Given the description of an element on the screen output the (x, y) to click on. 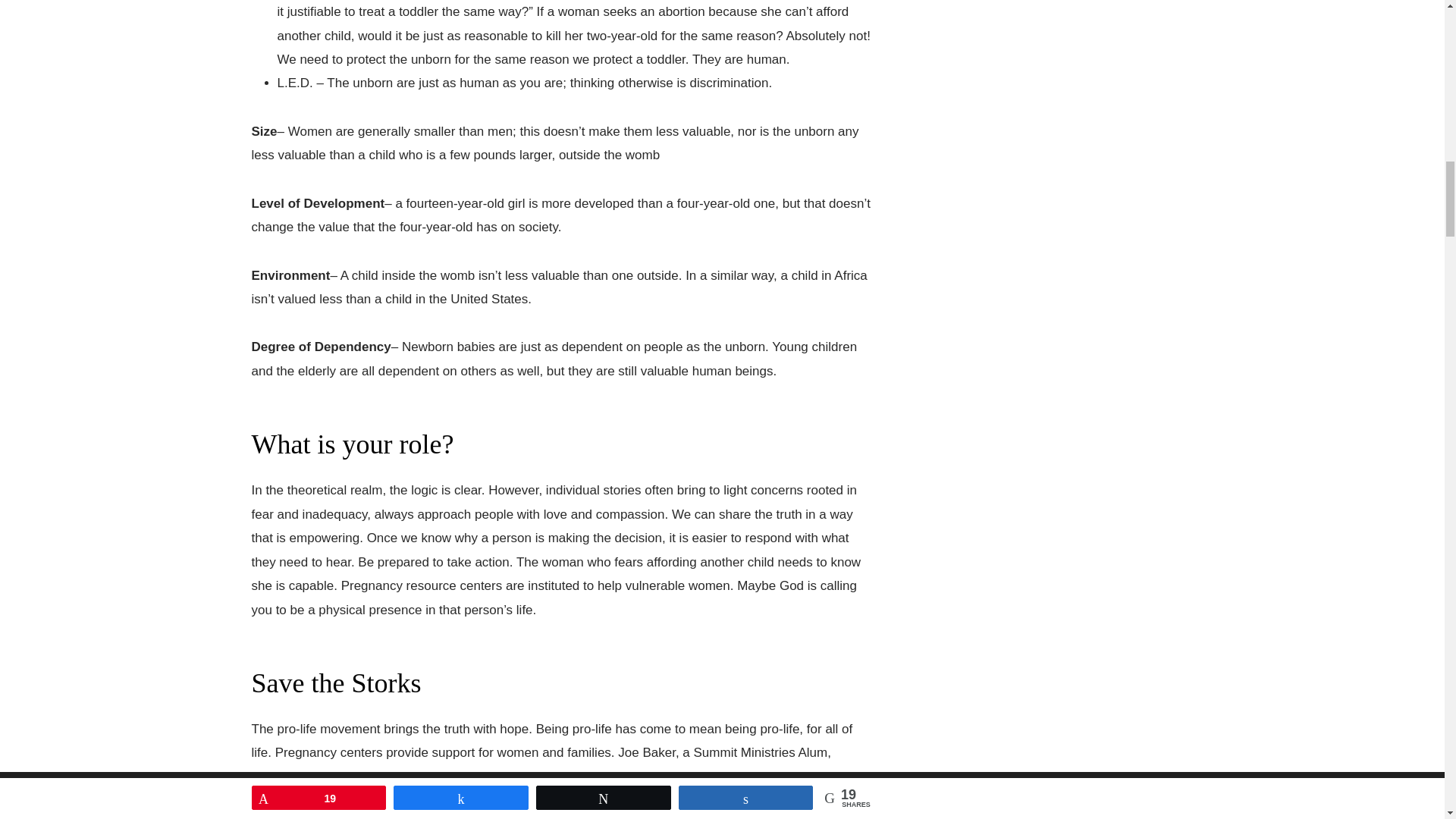
from Save (647, 776)
Save the Storks (347, 776)
the Storks (708, 776)
short video (584, 776)
